Given the description of an element on the screen output the (x, y) to click on. 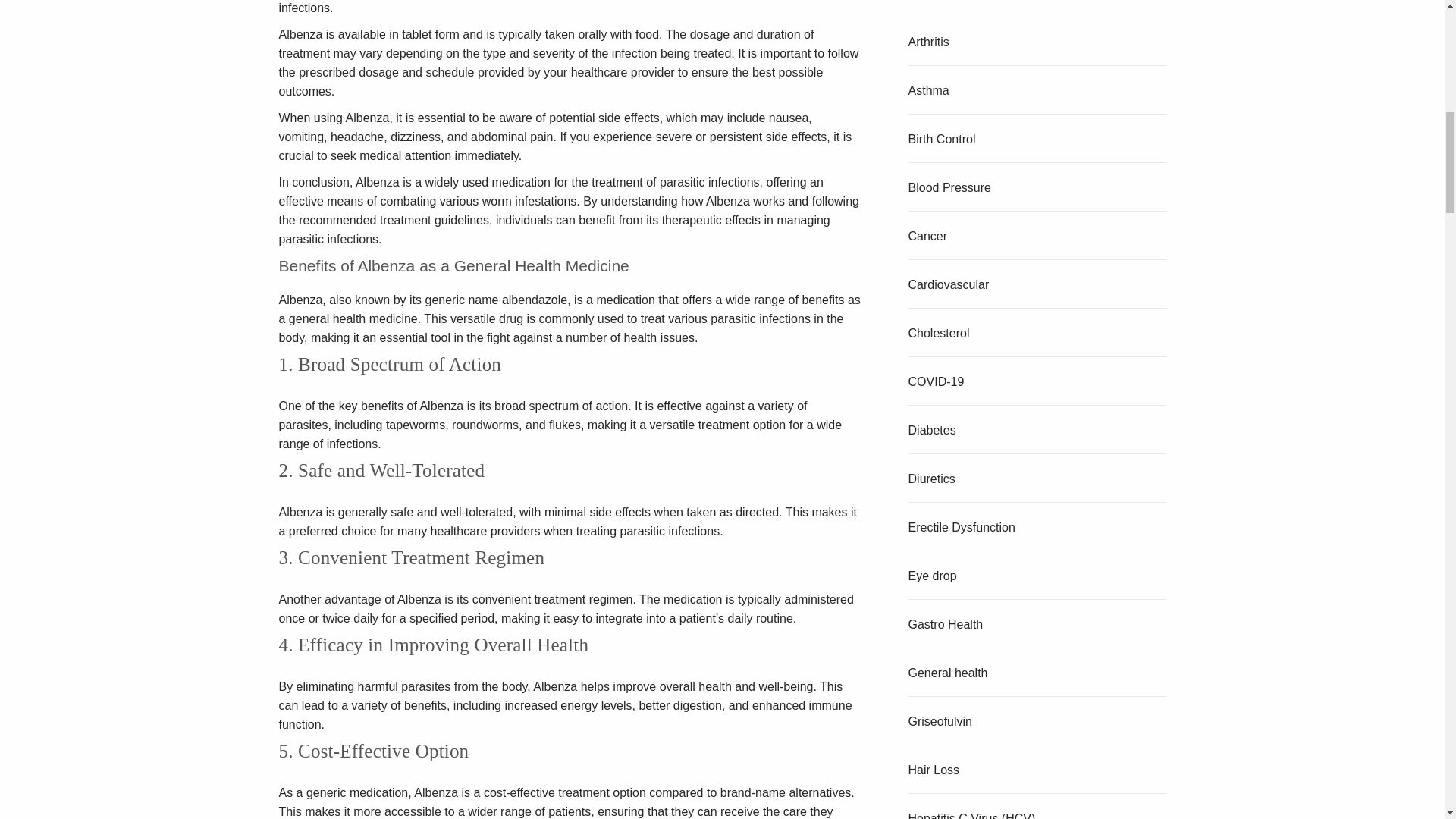
Cancer (927, 236)
Asthma (928, 90)
COVID-19 (935, 381)
Blood Pressure (949, 187)
Cardiovascular (949, 284)
Birth Control (941, 138)
Cholesterol (938, 332)
Erectile Dysfunction (961, 526)
Diabetes (932, 430)
Diuretics (931, 478)
Arthritis (928, 42)
